Given the description of an element on the screen output the (x, y) to click on. 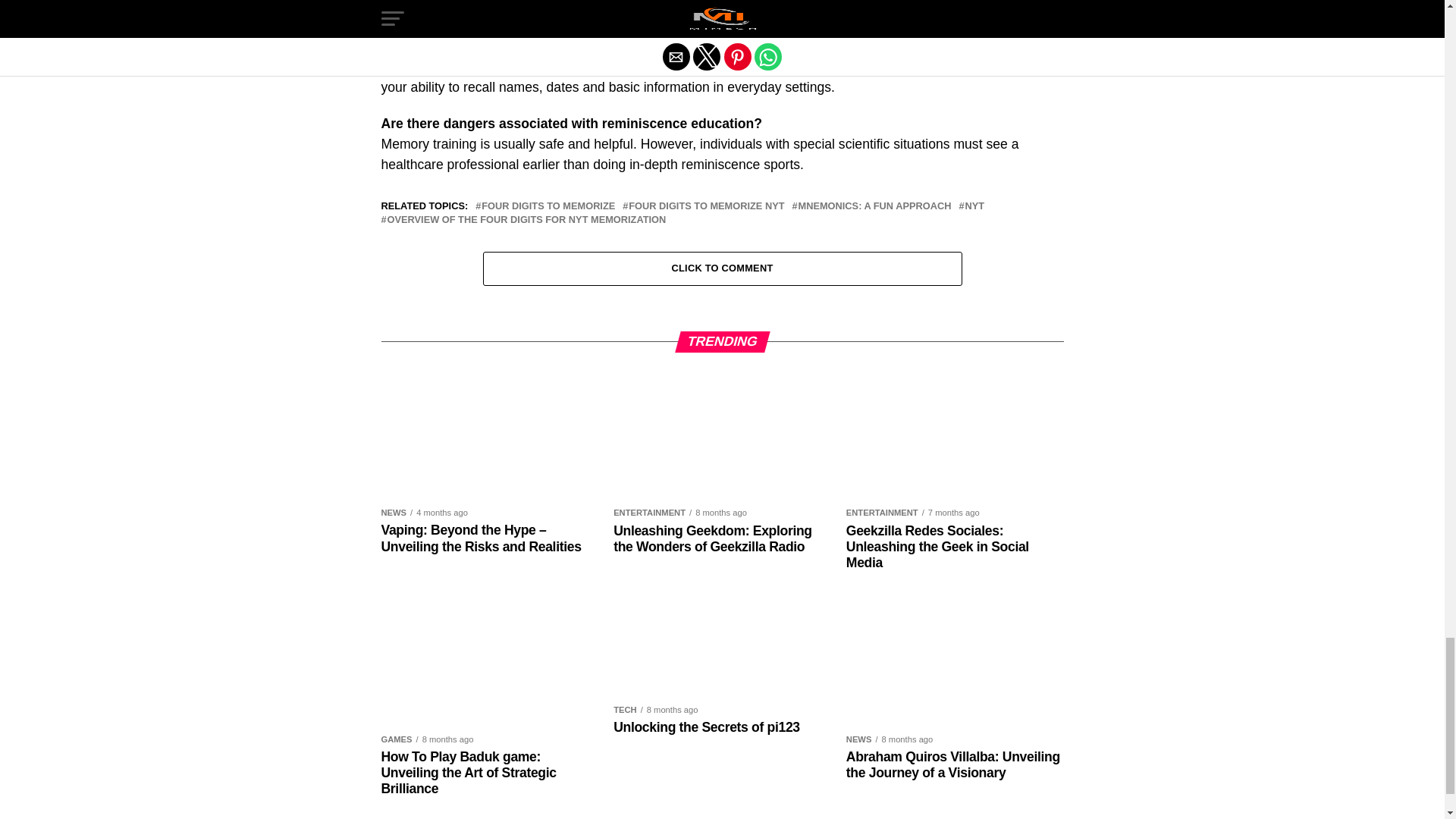
FOUR DIGITS TO MEMORIZE NYT (706, 206)
NYT (973, 206)
OVERVIEW OF THE FOUR DIGITS FOR NYT MEMORIZATION (526, 220)
FOUR DIGITS TO MEMORIZE (547, 206)
MNEMONICS: A FUN APPROACH (874, 206)
